Given the description of an element on the screen output the (x, y) to click on. 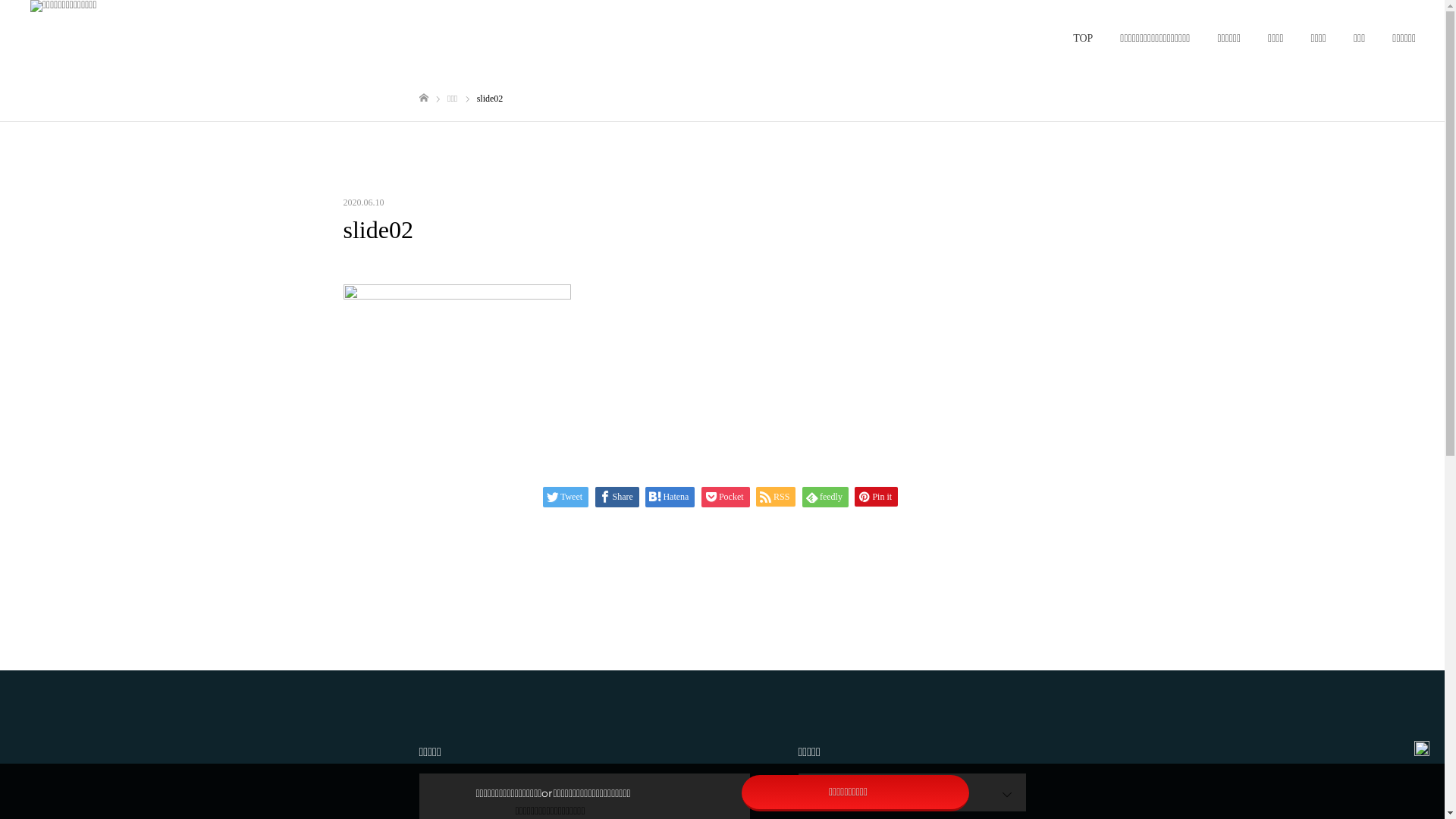
Hatena Element type: text (669, 496)
Share Element type: text (617, 496)
Tweet Element type: text (565, 496)
TOP Element type: text (1082, 38)
Pocket Element type: text (725, 496)
Pin it Element type: text (875, 496)
RSS Element type: text (775, 496)
feedly Element type: text (825, 496)
